Given the description of an element on the screen output the (x, y) to click on. 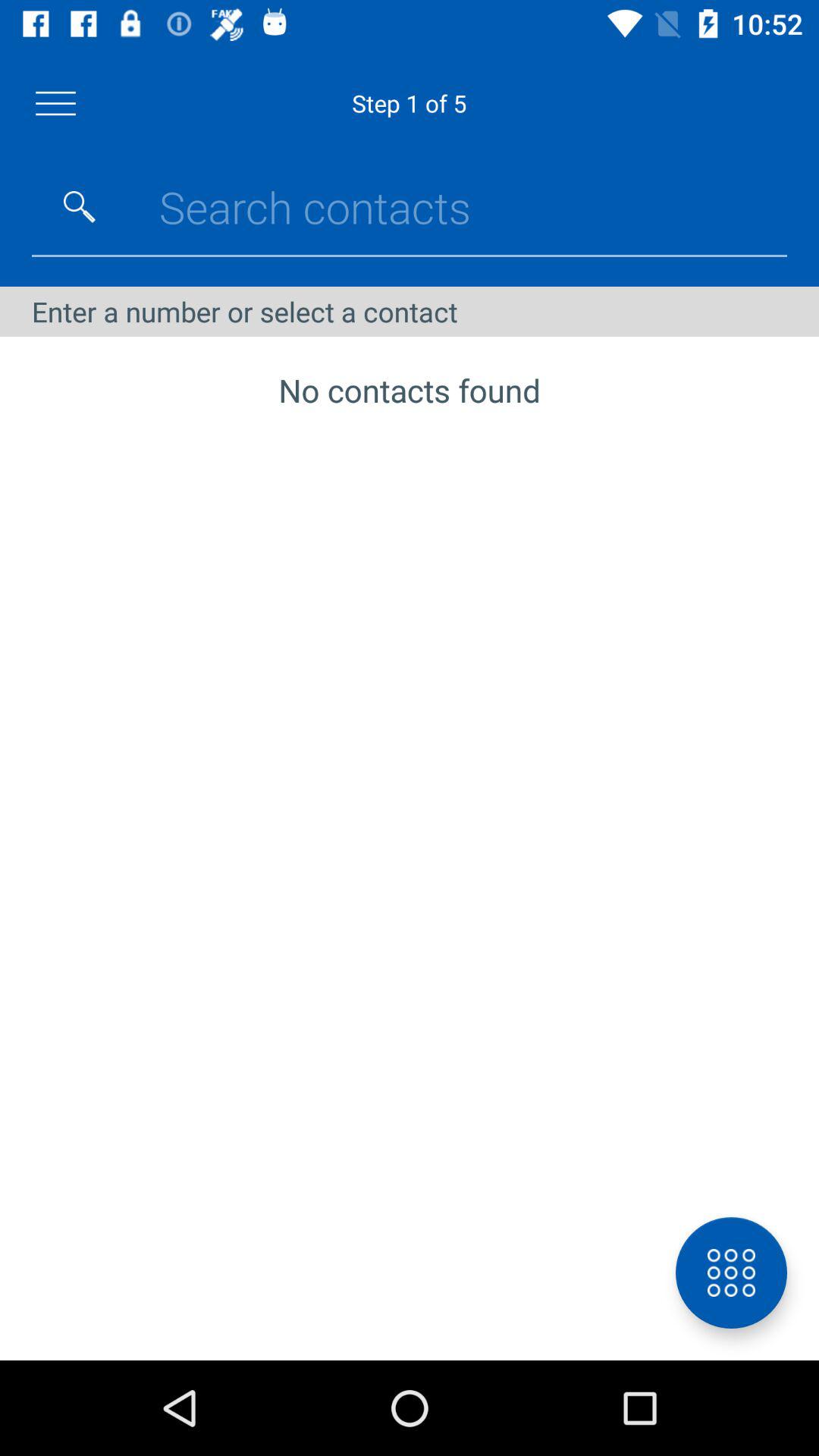
search contacts (79, 206)
